Given the description of an element on the screen output the (x, y) to click on. 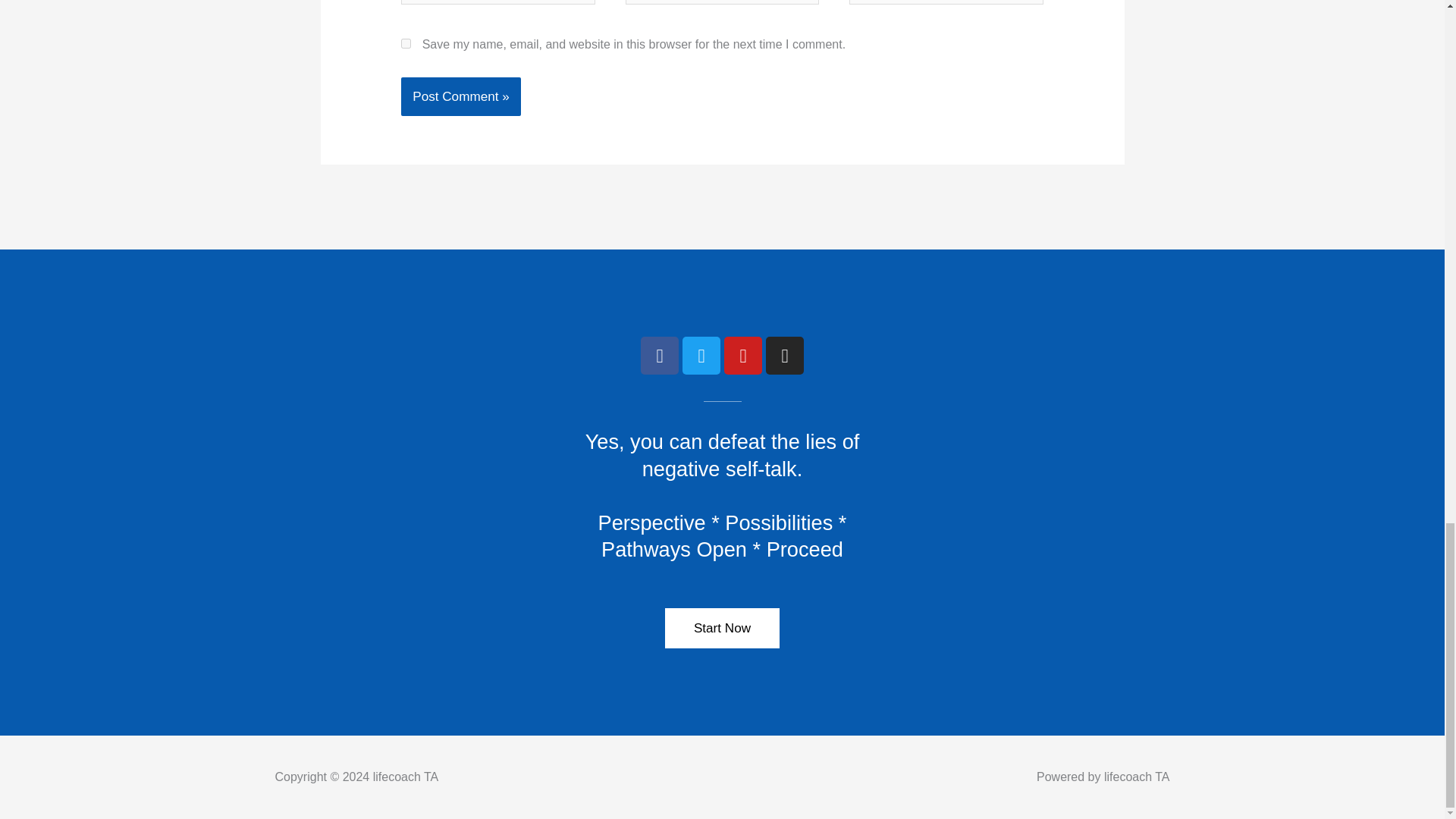
Instagram (784, 355)
Twitter (701, 355)
Facebook (659, 355)
yes (405, 43)
Start Now (721, 628)
Youtube (742, 355)
